Given the description of an element on the screen output the (x, y) to click on. 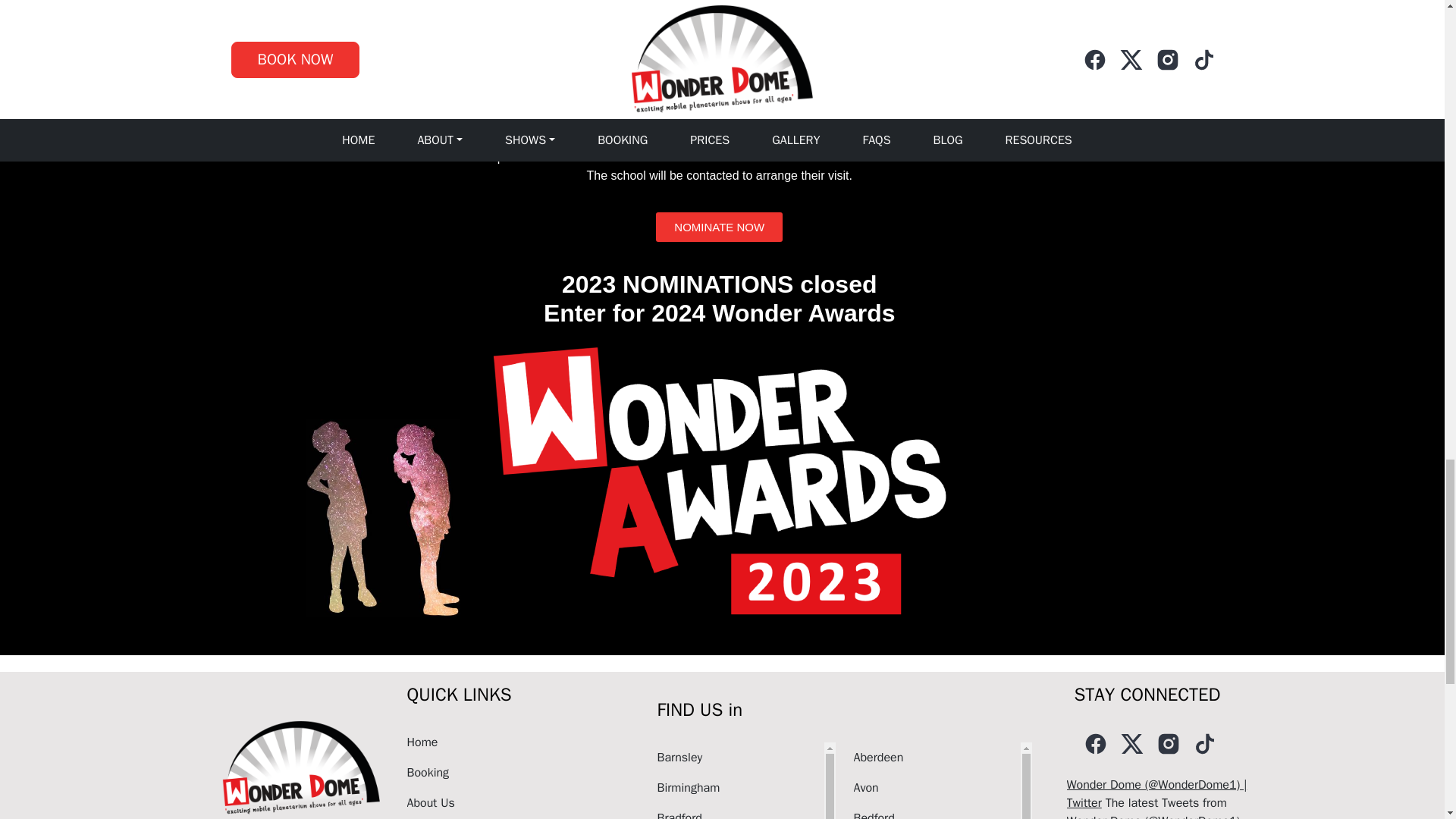
About Us (513, 802)
Booking (513, 772)
NOMINATE NOW (719, 226)
Home (513, 742)
